Given the description of an element on the screen output the (x, y) to click on. 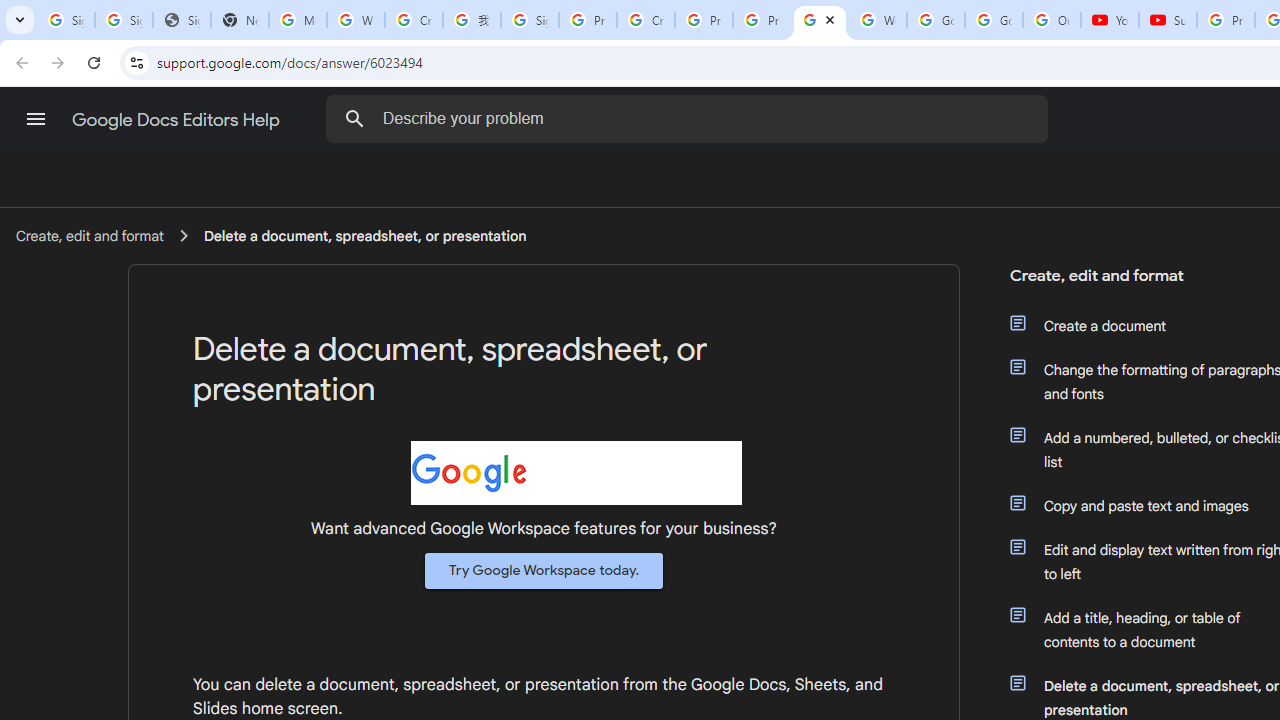
Subscriptions - YouTube (1167, 20)
Welcome to My Activity (877, 20)
Create, edit and format (89, 235)
Sign in - Google Accounts (529, 20)
Main menu (35, 119)
Who is my administrator? - Google Account Help (355, 20)
Create your Google Account (413, 20)
Delete a document, spreadsheet, or presentation (365, 235)
Create your Google Account (645, 20)
